Given the description of an element on the screen output the (x, y) to click on. 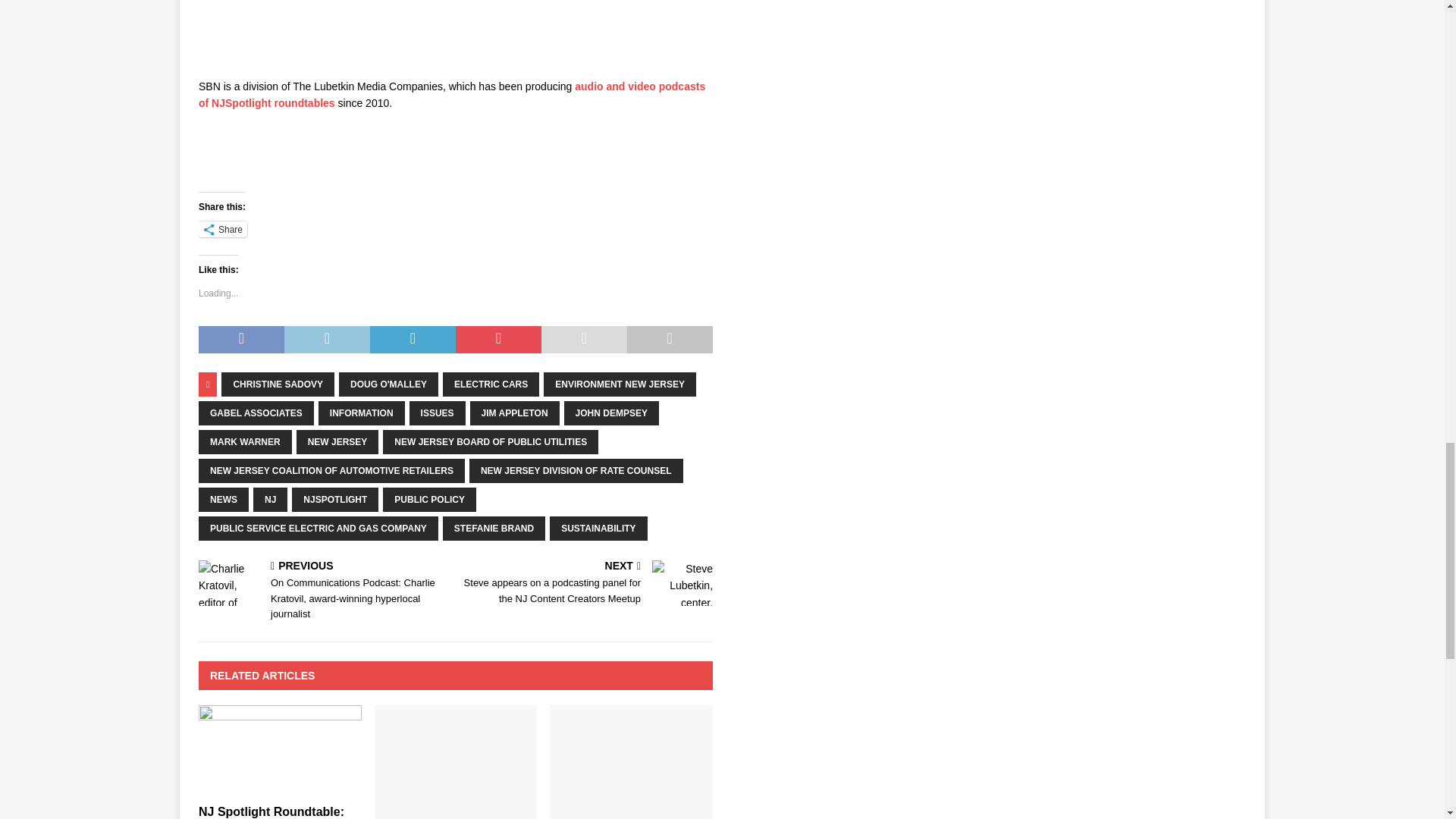
DOUG O'MALLEY (388, 384)
CHRISTINE SADOVY (277, 384)
audio and video podcasts of NJSpotlight roundtables (451, 94)
Share (222, 229)
